Given the description of an element on the screen output the (x, y) to click on. 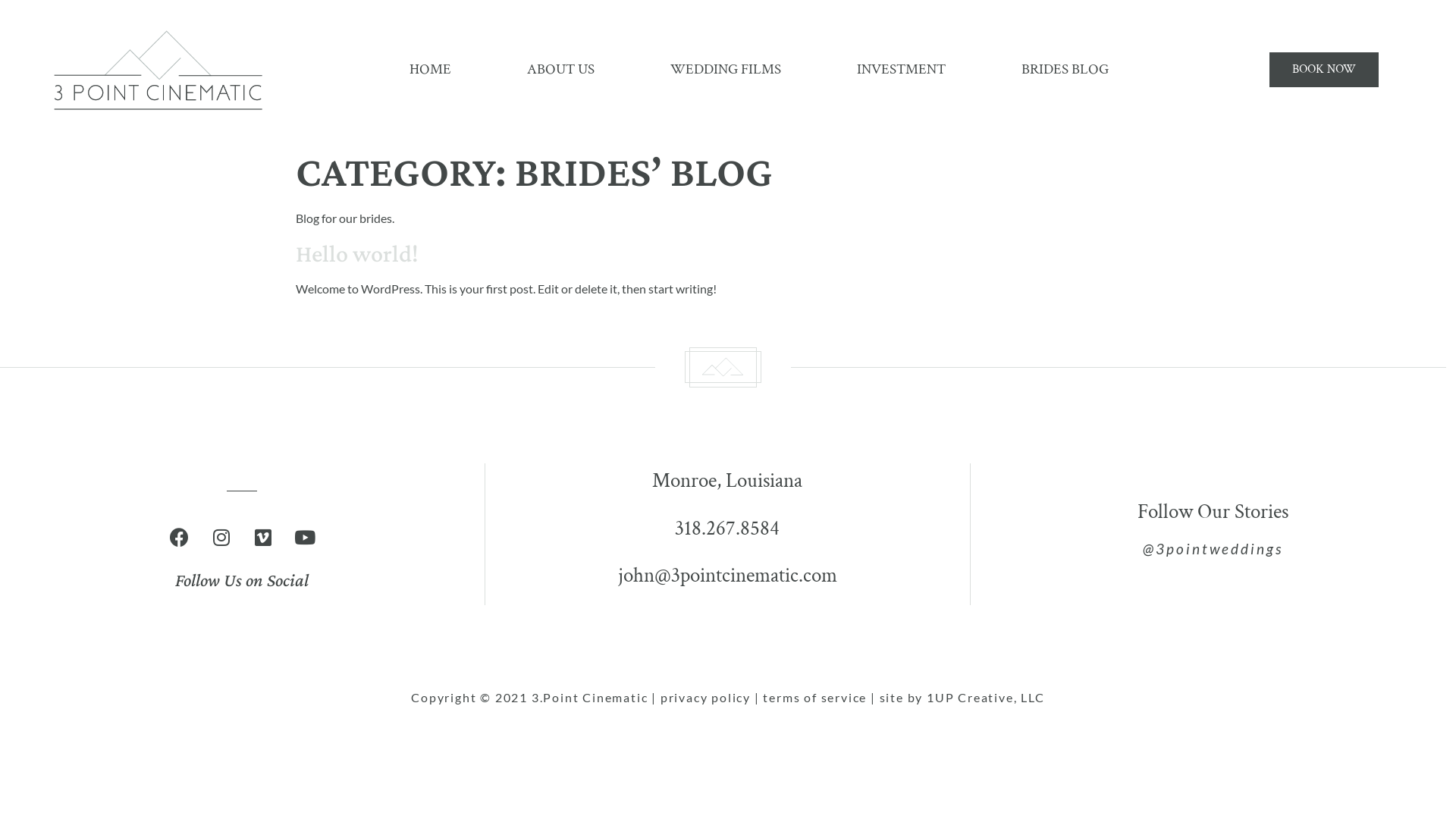
Hello world! Element type: text (356, 252)
ABOUT US Element type: text (560, 69)
BOOK NOW Element type: text (1323, 69)
BRIDES BLOG Element type: text (1064, 69)
HOME Element type: text (430, 69)
INVESTMENT Element type: text (900, 69)
WEDDING FILMS Element type: text (725, 69)
